Given the description of an element on the screen output the (x, y) to click on. 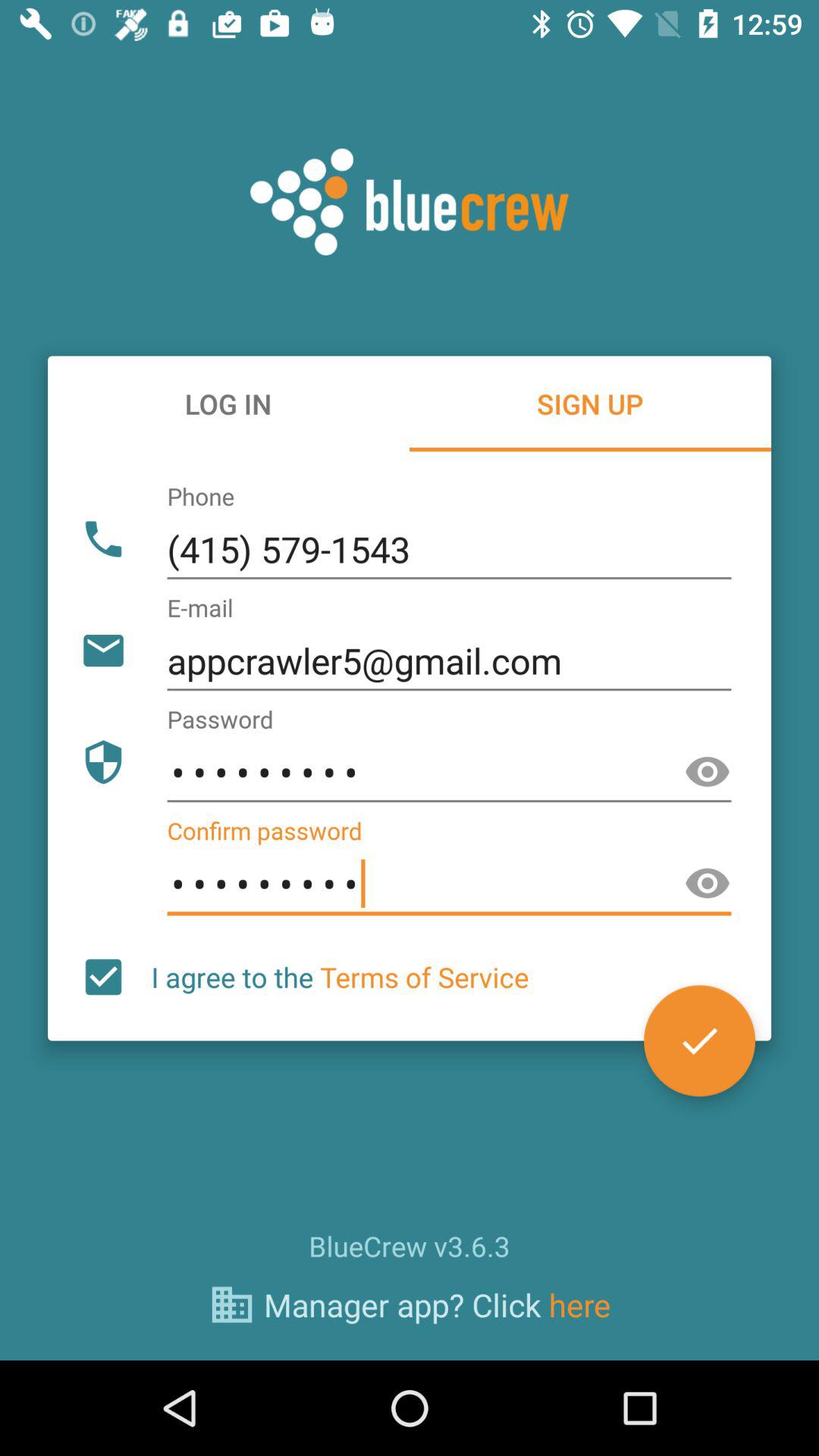
press item above bluecrew v3 6 item (103, 976)
